Given the description of an element on the screen output the (x, y) to click on. 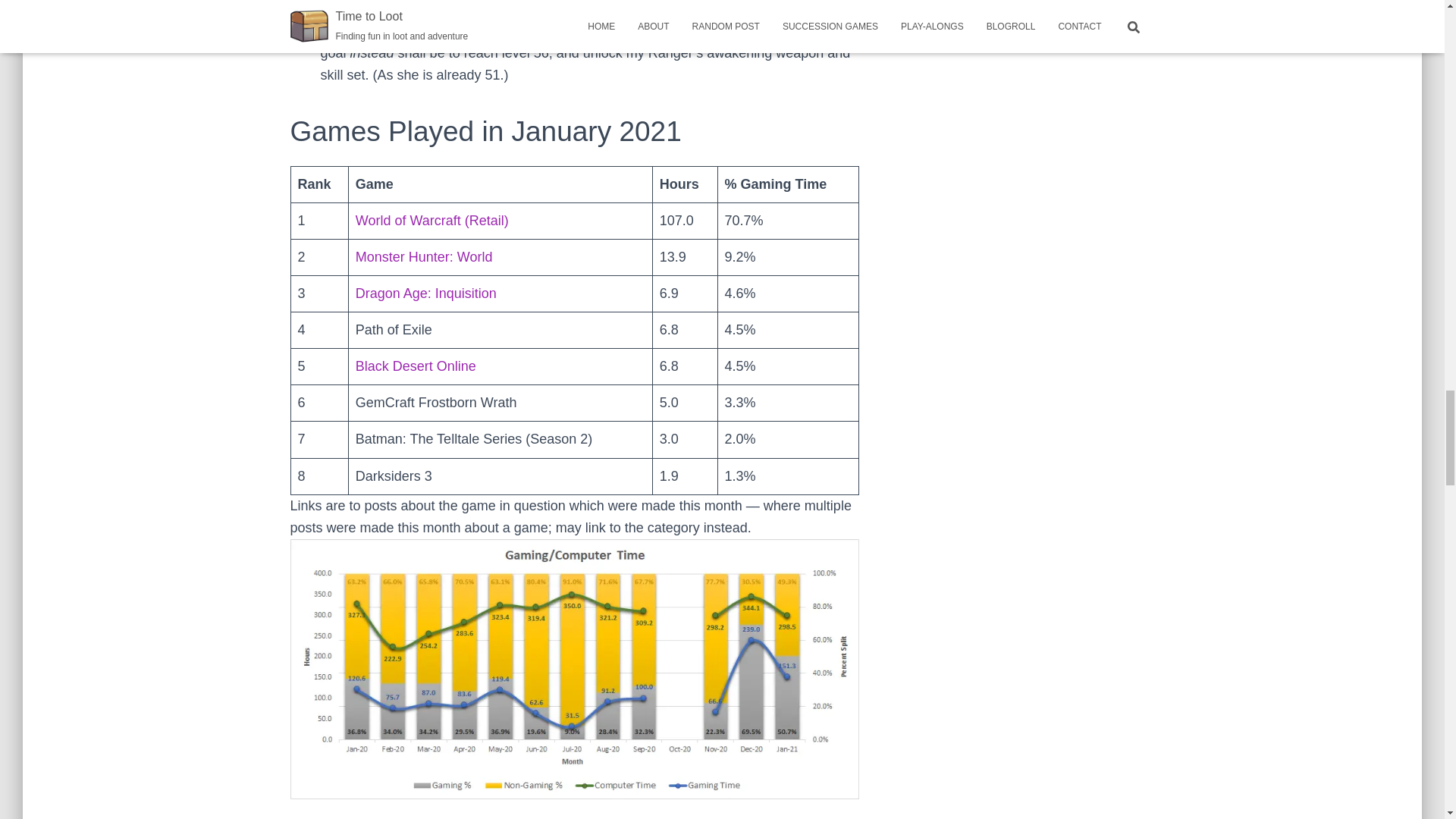
Monster Hunter: World (424, 256)
Black Desert Online (415, 365)
Musa (402, 7)
Dragon Age: Inquisition (425, 293)
